Given the description of an element on the screen output the (x, y) to click on. 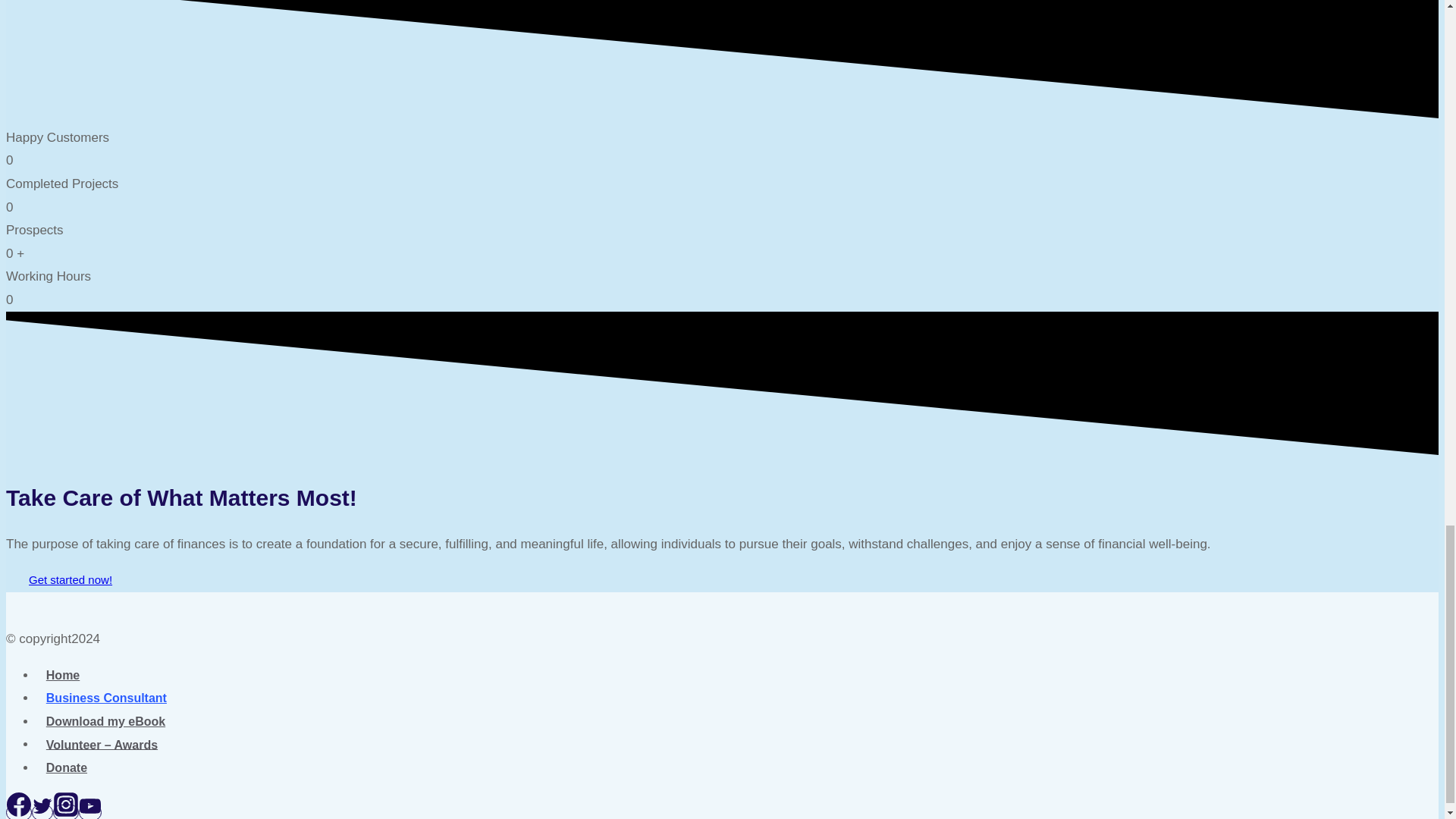
Facebook (18, 804)
Get started now! (70, 579)
Donate (66, 767)
Home (62, 675)
Instagram (65, 804)
Download my eBook (105, 721)
Twitter (42, 805)
Business Consultant (106, 697)
YouTube (90, 805)
